Given the description of an element on the screen output the (x, y) to click on. 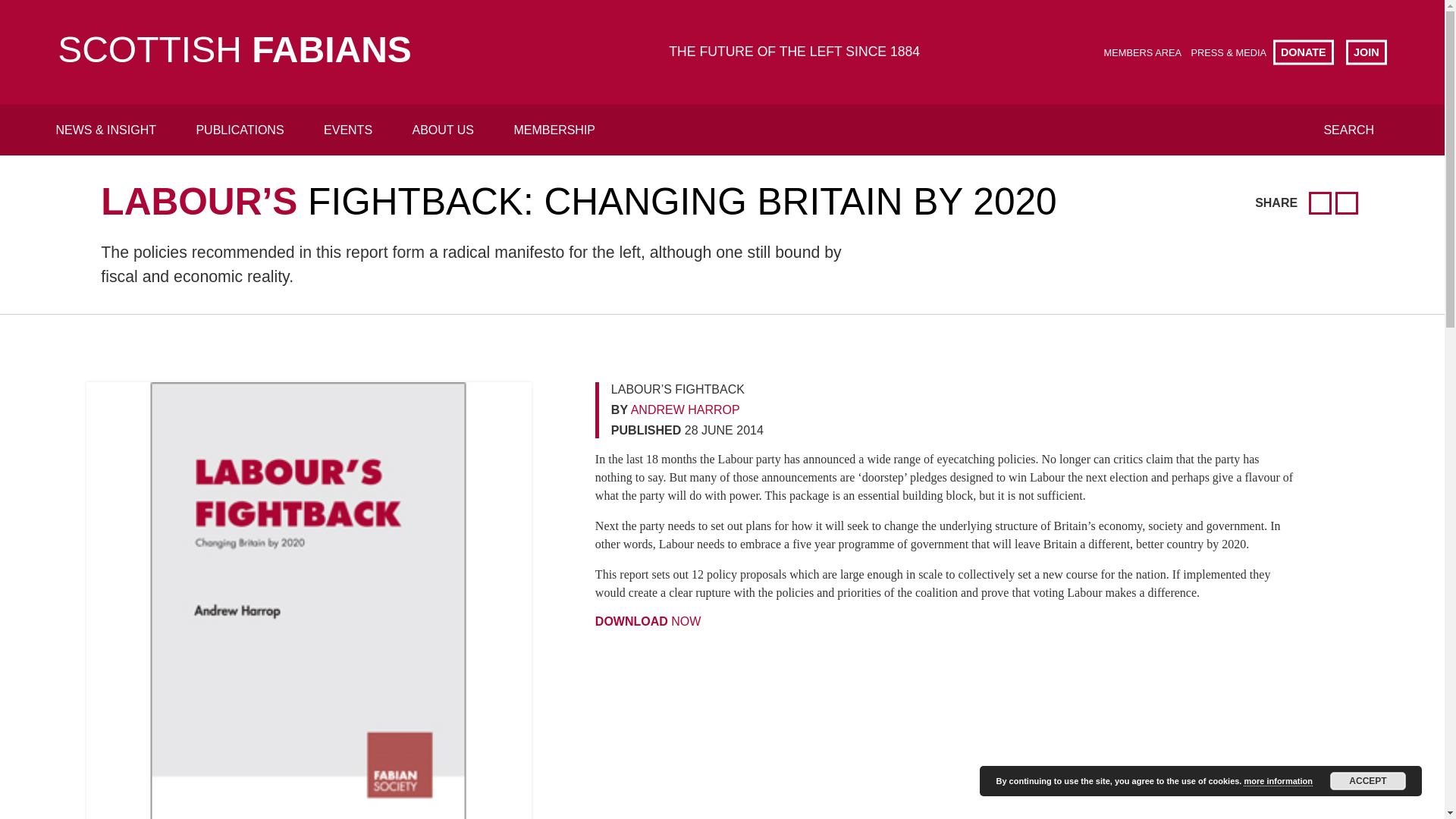
SEARCH (1348, 129)
site-search (714, 76)
PUBLICATIONS (239, 129)
MEMBERSHIP (553, 129)
SCOTTISH FABIANS (235, 51)
JOIN (1366, 52)
DONATE (1302, 52)
EVENTS (347, 129)
ABOUT US (443, 129)
MEMBERS AREA (1141, 52)
